Given the description of an element on the screen output the (x, y) to click on. 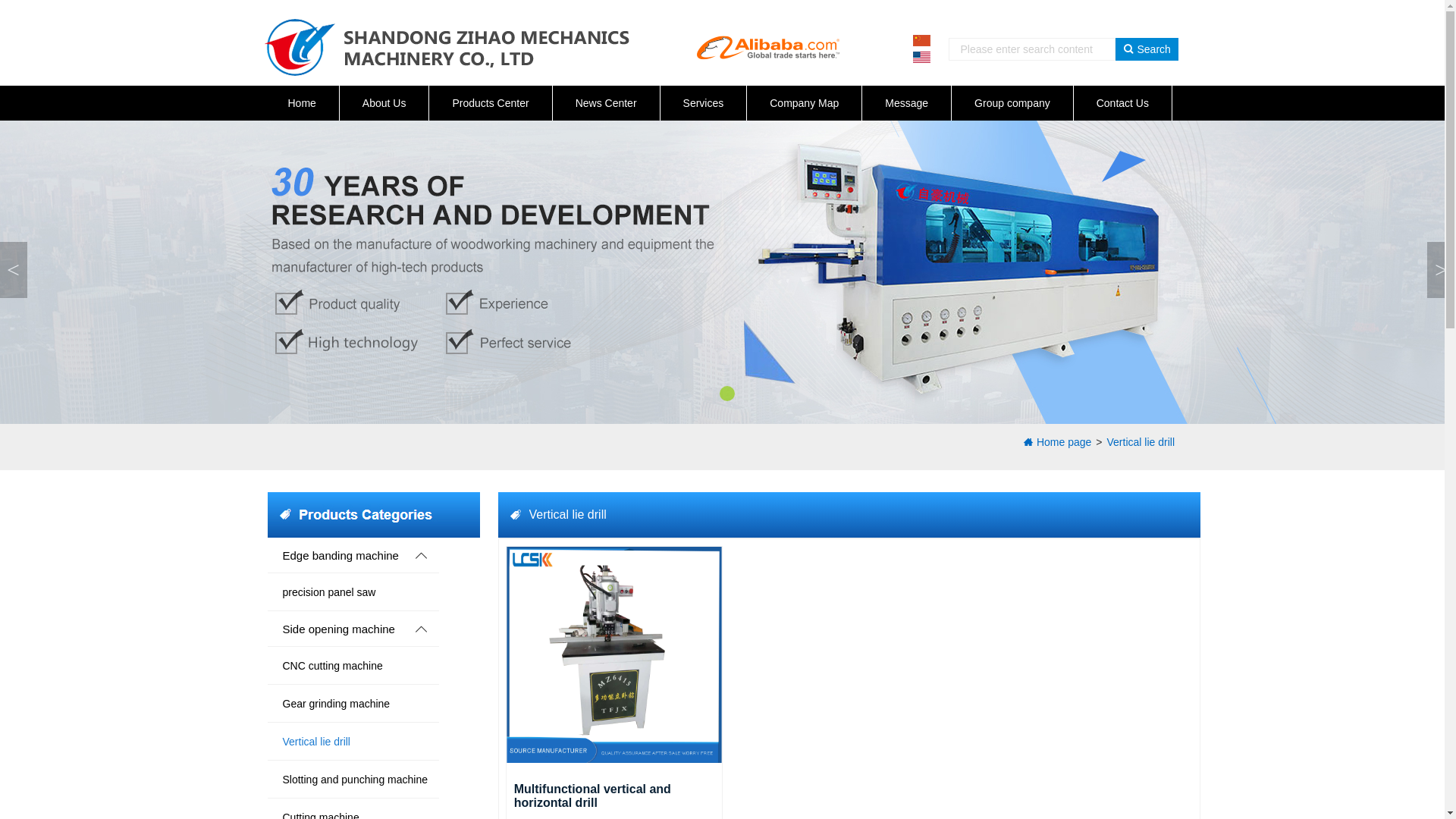
Edge banding machine Element type: text (367, 555)
Company Map Element type: text (803, 101)
Services Element type: text (703, 101)
Group company Element type: text (1012, 101)
1 Element type: hover (922, 40)
Message Element type: text (906, 101)
Slotting and punching machine Element type: text (352, 779)
Products Center Element type: text (490, 101)
Home page Element type: text (1056, 442)
About Us Element type: text (384, 101)
Home Element type: text (301, 101)
News Center Element type: text (605, 101)
CNC cutting machine Element type: text (352, 665)
Side opening machine Element type: text (367, 628)
precision panel saw Element type: text (352, 592)
Contact Us Element type: text (1122, 101)
1 Element type: hover (922, 56)
Vertical lie drill Element type: text (352, 741)
BESTEN Element type: hover (445, 46)
Gear grinding machine Element type: text (352, 703)
